Given the description of an element on the screen output the (x, y) to click on. 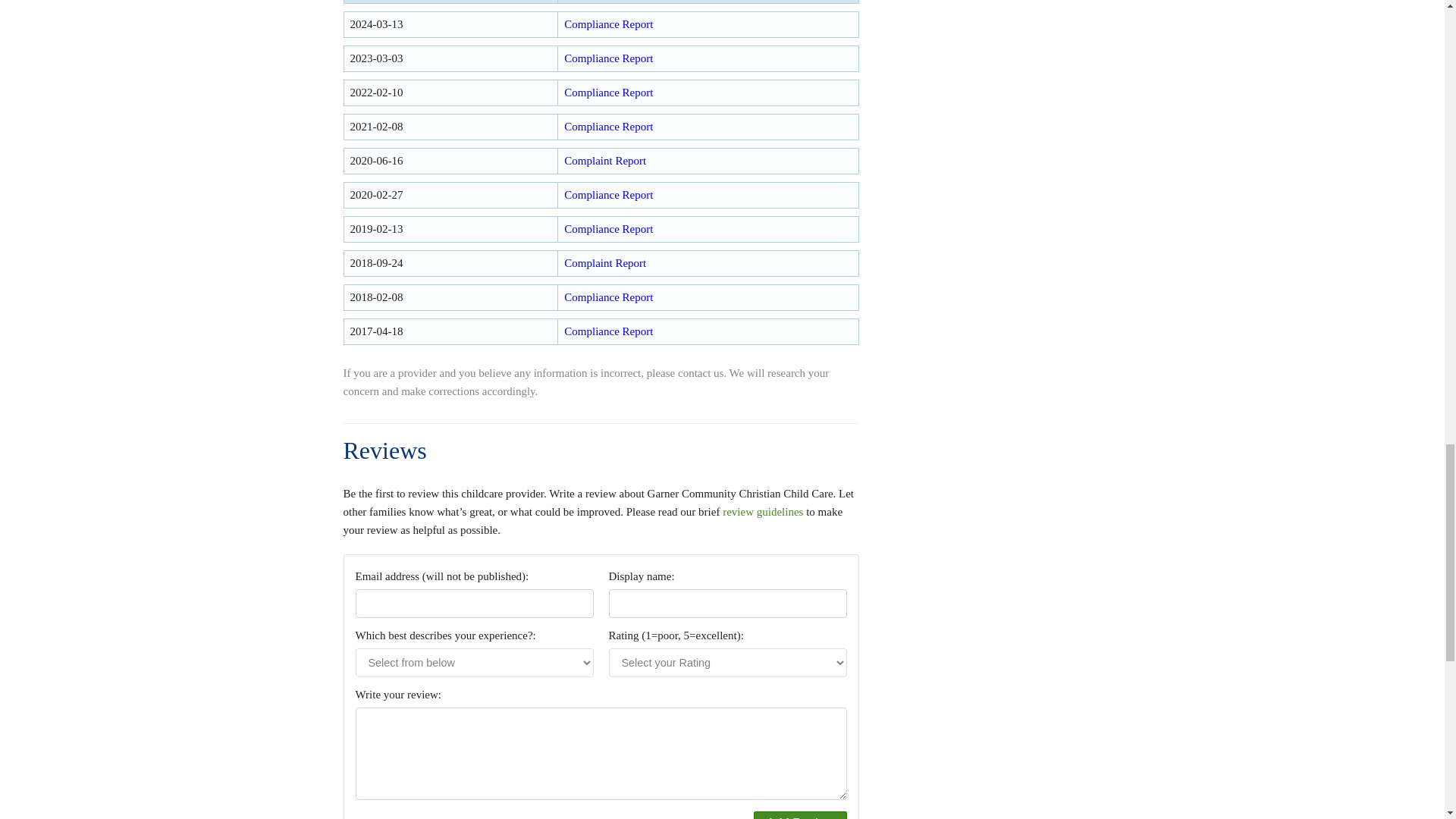
Compliance Report (608, 24)
Compliance Report (608, 92)
Add Review (799, 815)
Compliance Report (608, 58)
